Given the description of an element on the screen output the (x, y) to click on. 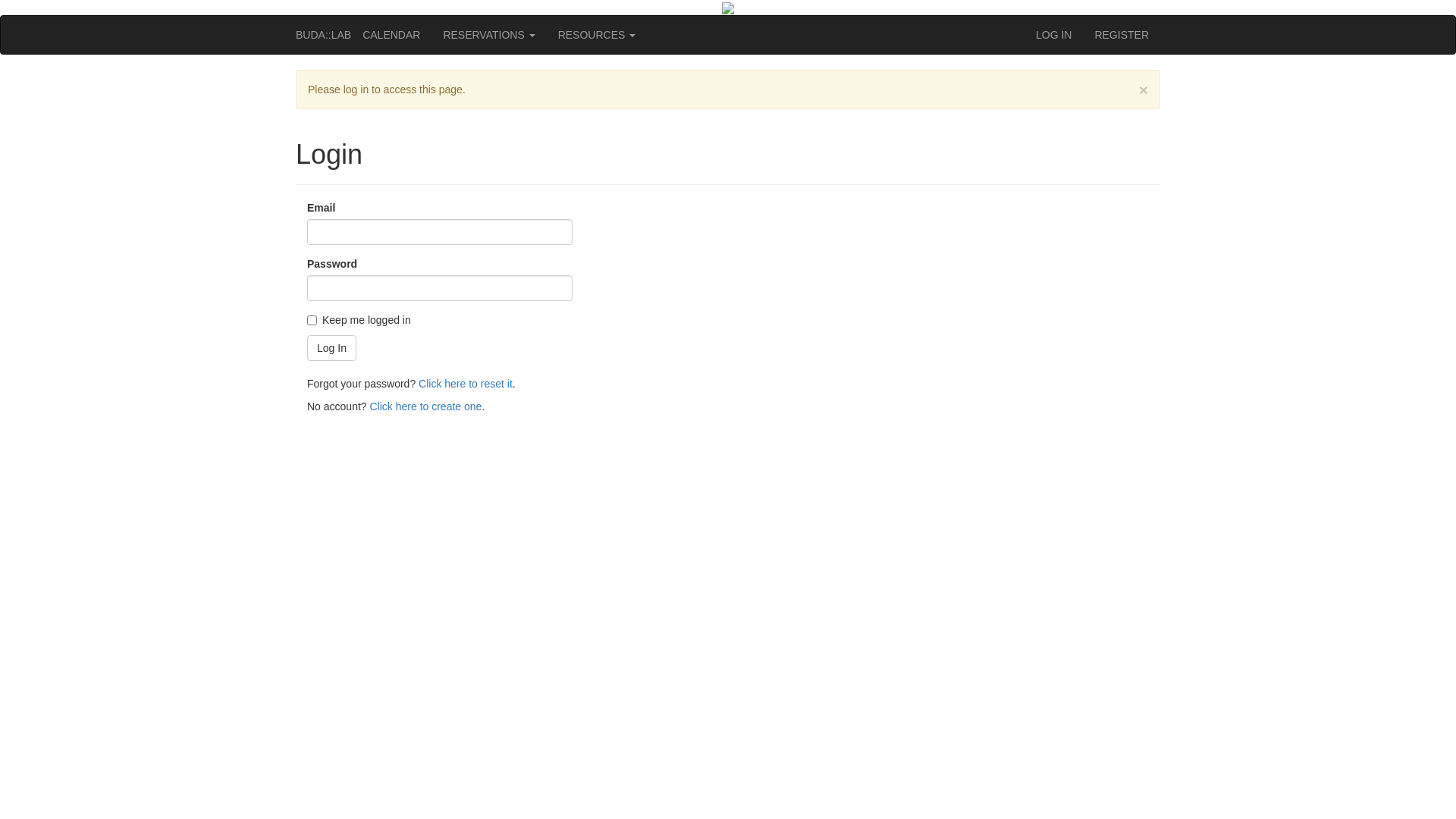
Log In Element type: text (331, 347)
RESOURCES Element type: text (596, 34)
Click here to create one Element type: text (426, 406)
LOG IN Element type: text (1053, 34)
RESERVATIONS Element type: text (488, 34)
BUDA::LAB Element type: text (323, 34)
REGISTER Element type: text (1121, 34)
Click here to reset it Element type: text (465, 383)
CALENDAR Element type: text (391, 34)
